Given the description of an element on the screen output the (x, y) to click on. 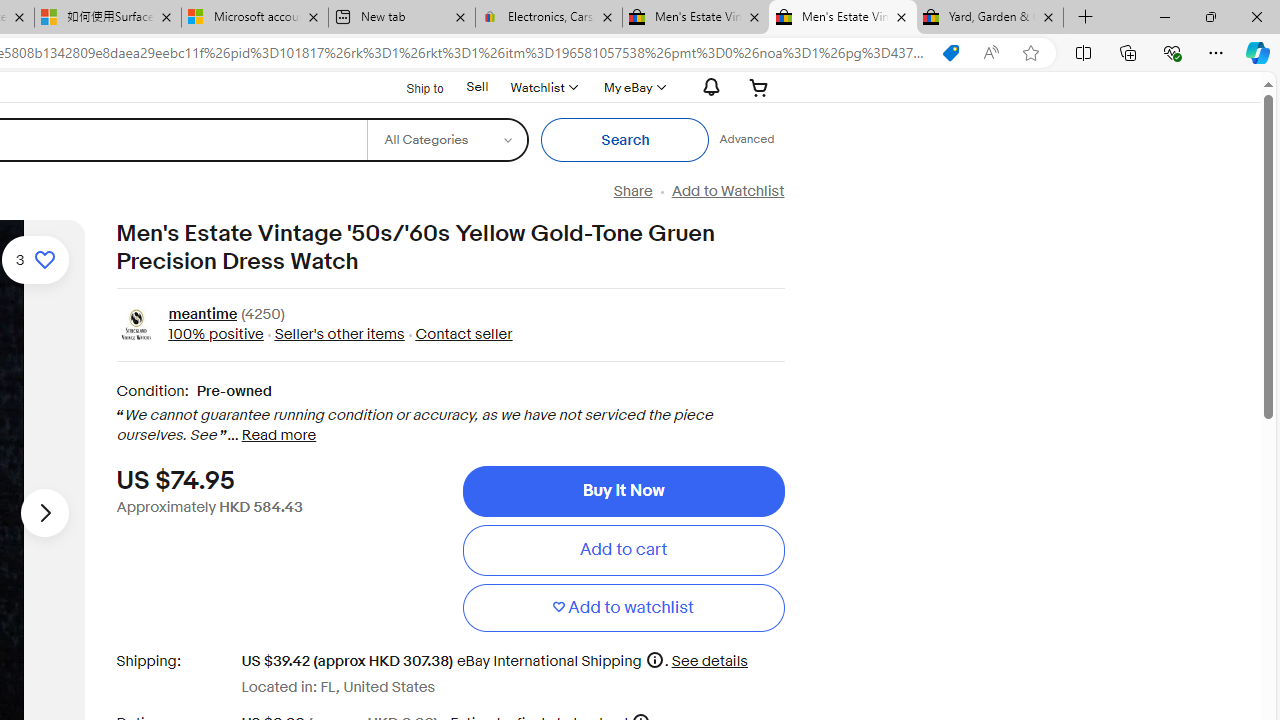
(4250) (262, 315)
  Contact seller (458, 334)
Add to cart (623, 550)
Buy It Now (623, 490)
This site has coupons! Shopping in Microsoft Edge (950, 53)
Next image - Item images thumbnails (44, 512)
Add to watchlist (623, 607)
More information (654, 660)
